Given the description of an element on the screen output the (x, y) to click on. 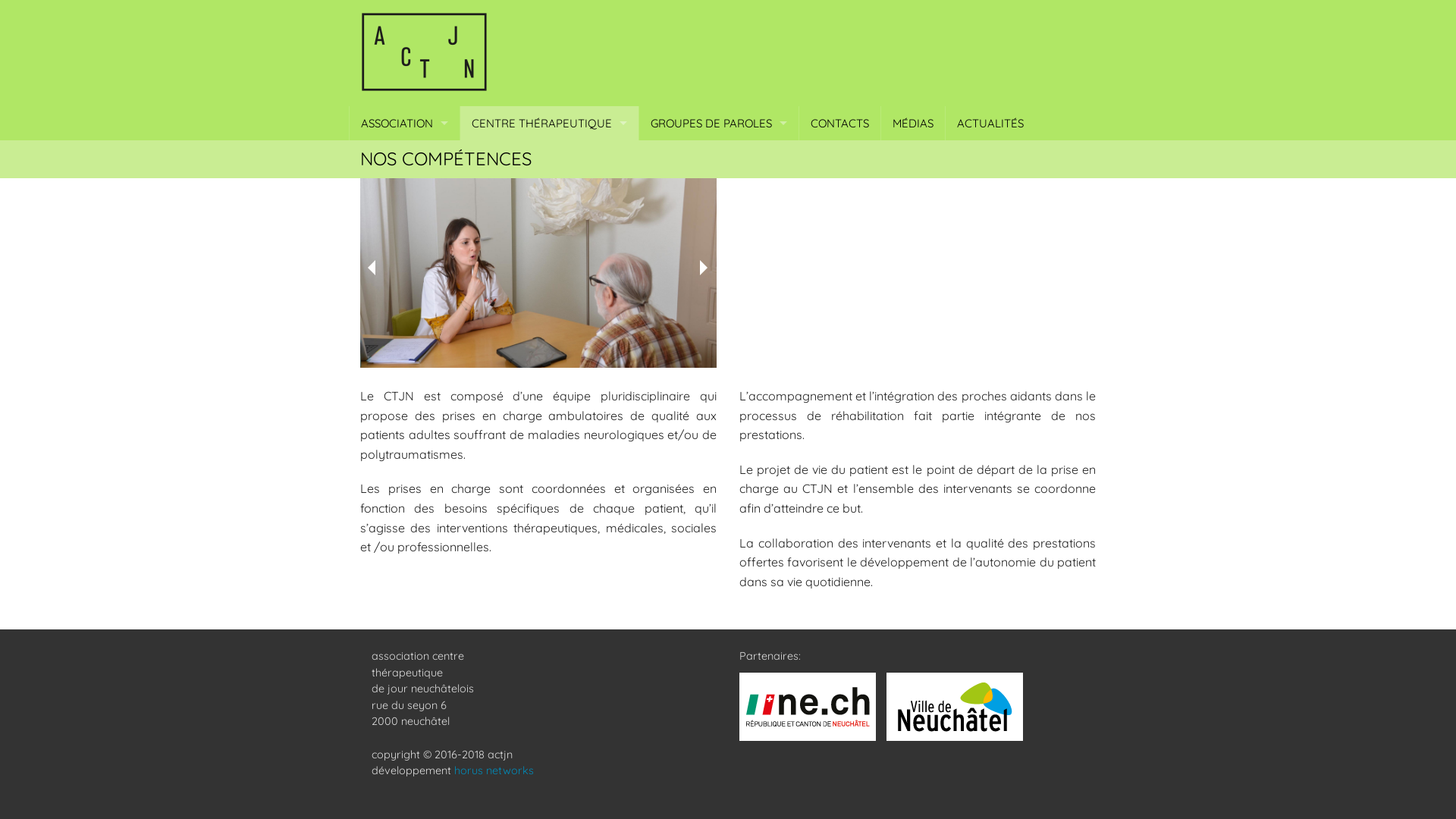
CONTACTS Element type: text (839, 123)
HORAIRES Element type: text (549, 327)
FINANCEMENT Element type: text (549, 362)
DOCUMENTATION Element type: text (549, 430)
horus networks Element type: text (493, 770)
GROUPES DE PAROLES Element type: text (718, 123)
STATUTS Element type: text (404, 225)
MISSION, VALEURS, VISION Element type: text (404, 157)
DONATEURS Element type: text (404, 327)
POUR PROCHES AIDANTS Element type: text (718, 191)
ORGANIGRAMME Element type: text (404, 191)
ASSOCIATION Element type: text (404, 123)
MISSION ET OBJECTIFS Element type: text (549, 157)
ADMISSION Element type: text (549, 396)
MEMBRES Element type: text (404, 293)
ACCUEIL DE JOUR Element type: text (549, 191)
